Given the description of an element on the screen output the (x, y) to click on. 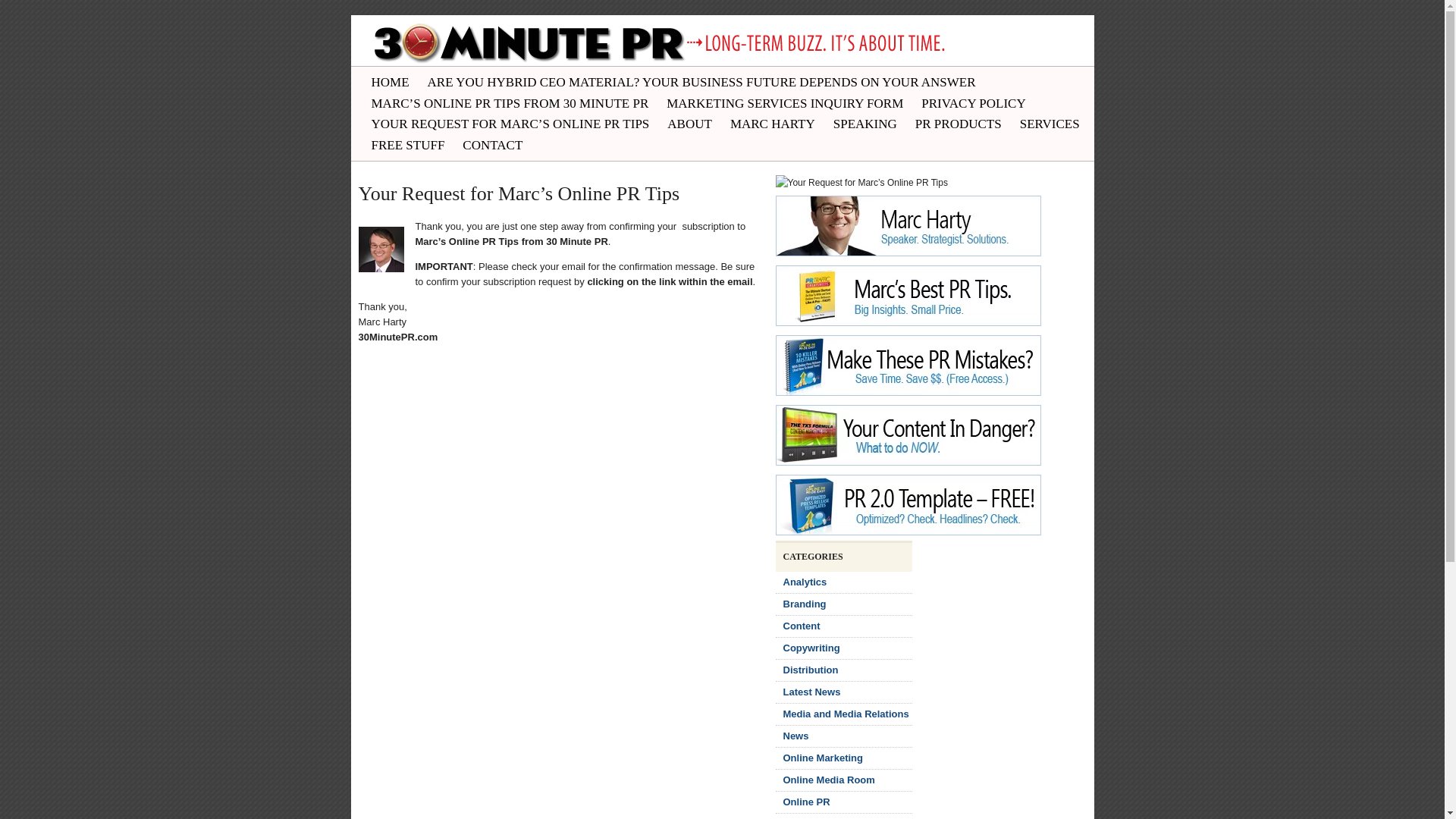
SERVICES Element type: text (1049, 123)
HOME Element type: text (390, 82)
Latest News Element type: text (811, 691)
SPEAKING Element type: text (865, 123)
PR PRODUCTS Element type: text (958, 123)
MARKETING SERVICES INQUIRY FORM Element type: text (784, 103)
Branding Element type: text (803, 603)
Copywriting Element type: text (810, 647)
CONTACT Element type: text (492, 145)
ABOUT Element type: text (689, 123)
Media and Media Relations Element type: text (845, 713)
Online Marketing Element type: text (822, 757)
Distribution Element type: text (809, 669)
FREE STUFF Element type: text (408, 145)
Online PR Element type: text (805, 801)
Analytics Element type: text (804, 581)
News Element type: text (795, 735)
Content Element type: text (800, 625)
MARC HARTY Element type: text (772, 123)
Online Media Room Element type: text (828, 779)
PRIVACY POLICY Element type: text (973, 103)
marc002-60px_web Element type: hover (380, 249)
